Given the description of an element on the screen output the (x, y) to click on. 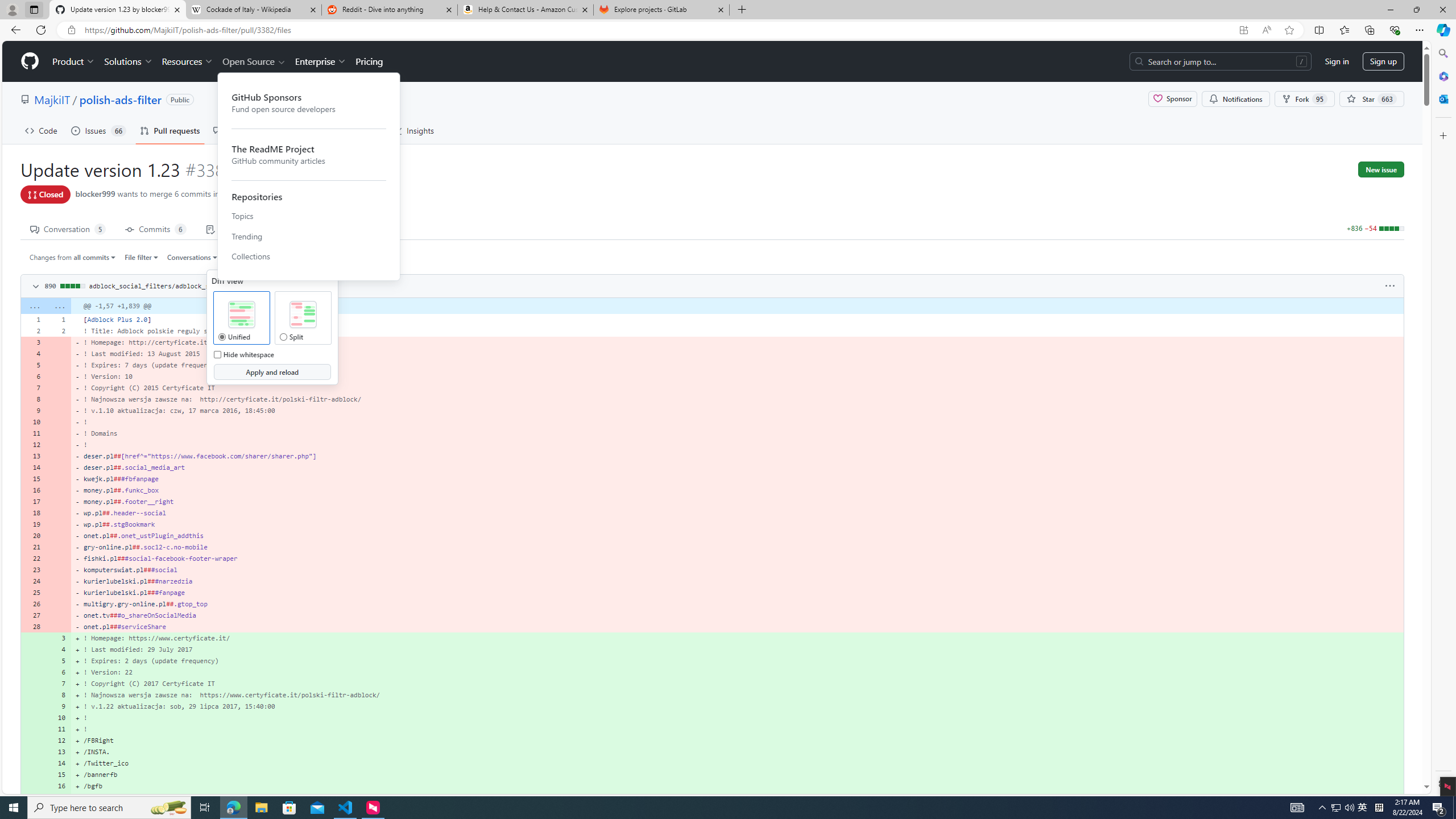
24 (33, 581)
Product (74, 60)
- kurierlubelski.pl###narzedzia (737, 581)
+ /FBRight  (737, 740)
GitHub Sponsors Fund open source developers (309, 102)
Class: blob-num blob-num-deletion empty-cell (58, 626)
- money.pl##.funkc_box (737, 490)
- onet.pl##.onet_ustPlugin_addthis (737, 535)
Toggle diff contents (34, 286)
17 (58, 797)
Sponsor MajkiIT/polish-ads-filter (1171, 98)
